Given the description of an element on the screen output the (x, y) to click on. 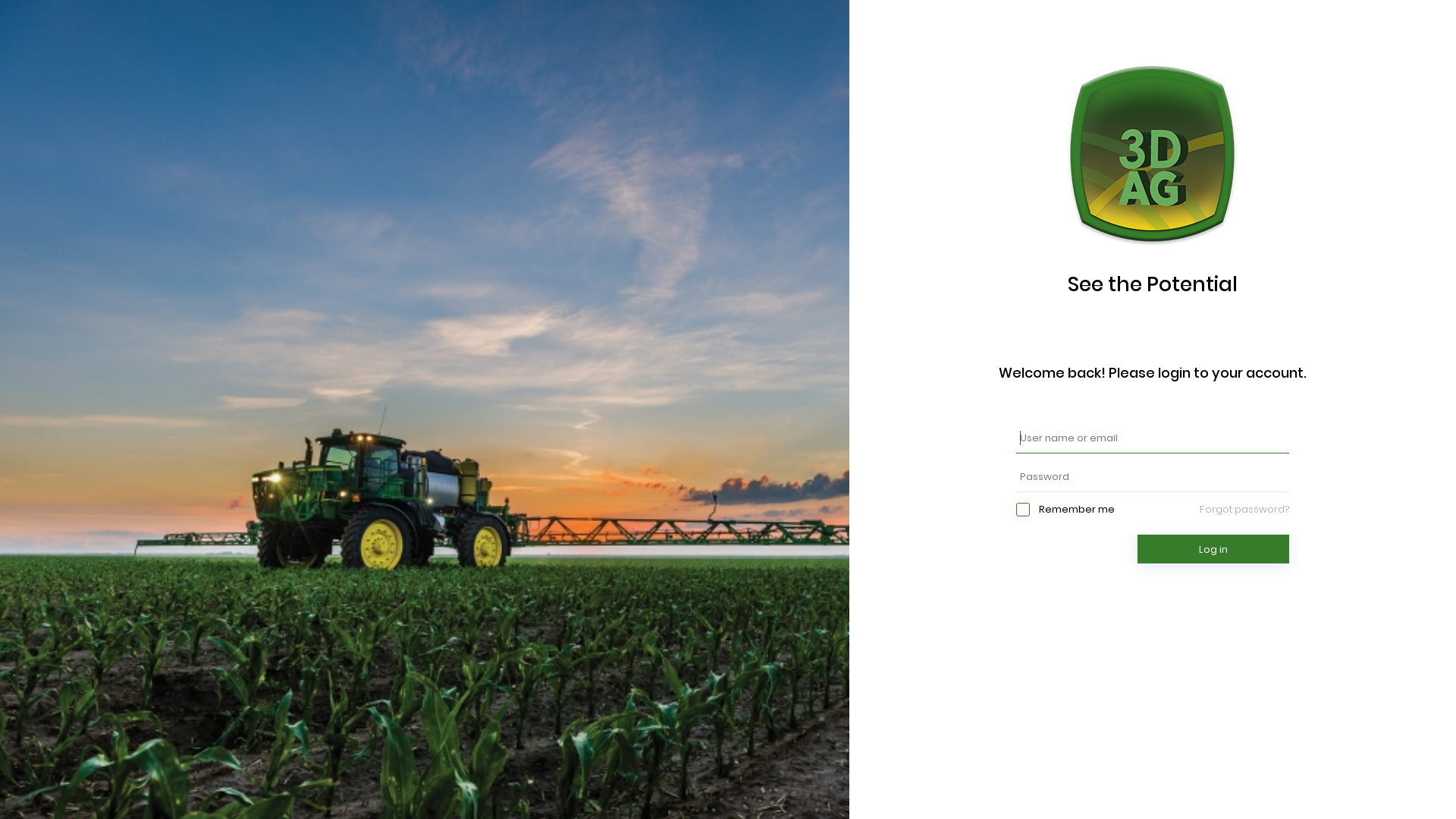
Forgot password? Element type: text (1244, 509)
Log in Element type: text (1213, 548)
